Given the description of an element on the screen output the (x, y) to click on. 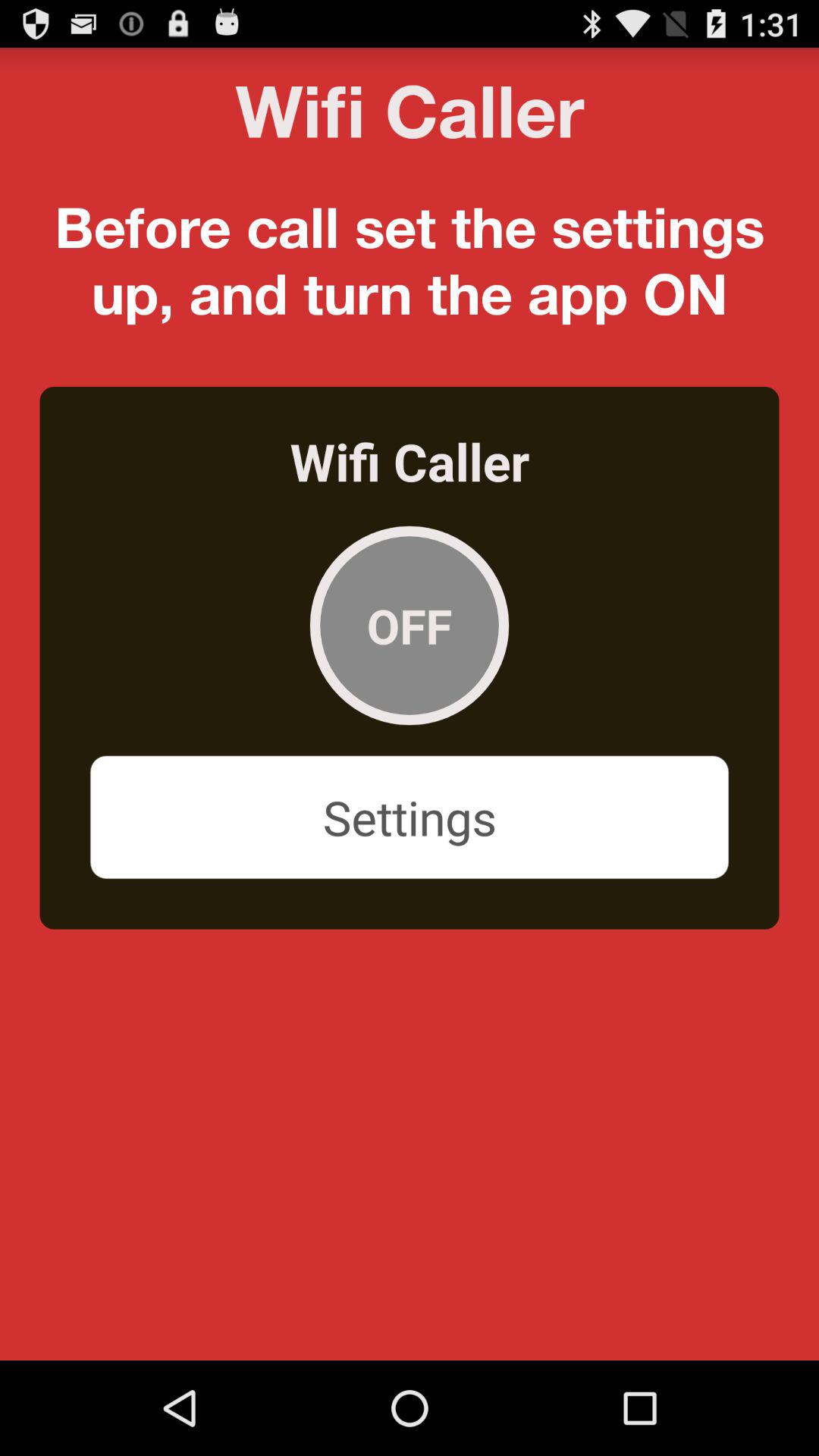
turn on the off (409, 625)
